Given the description of an element on the screen output the (x, y) to click on. 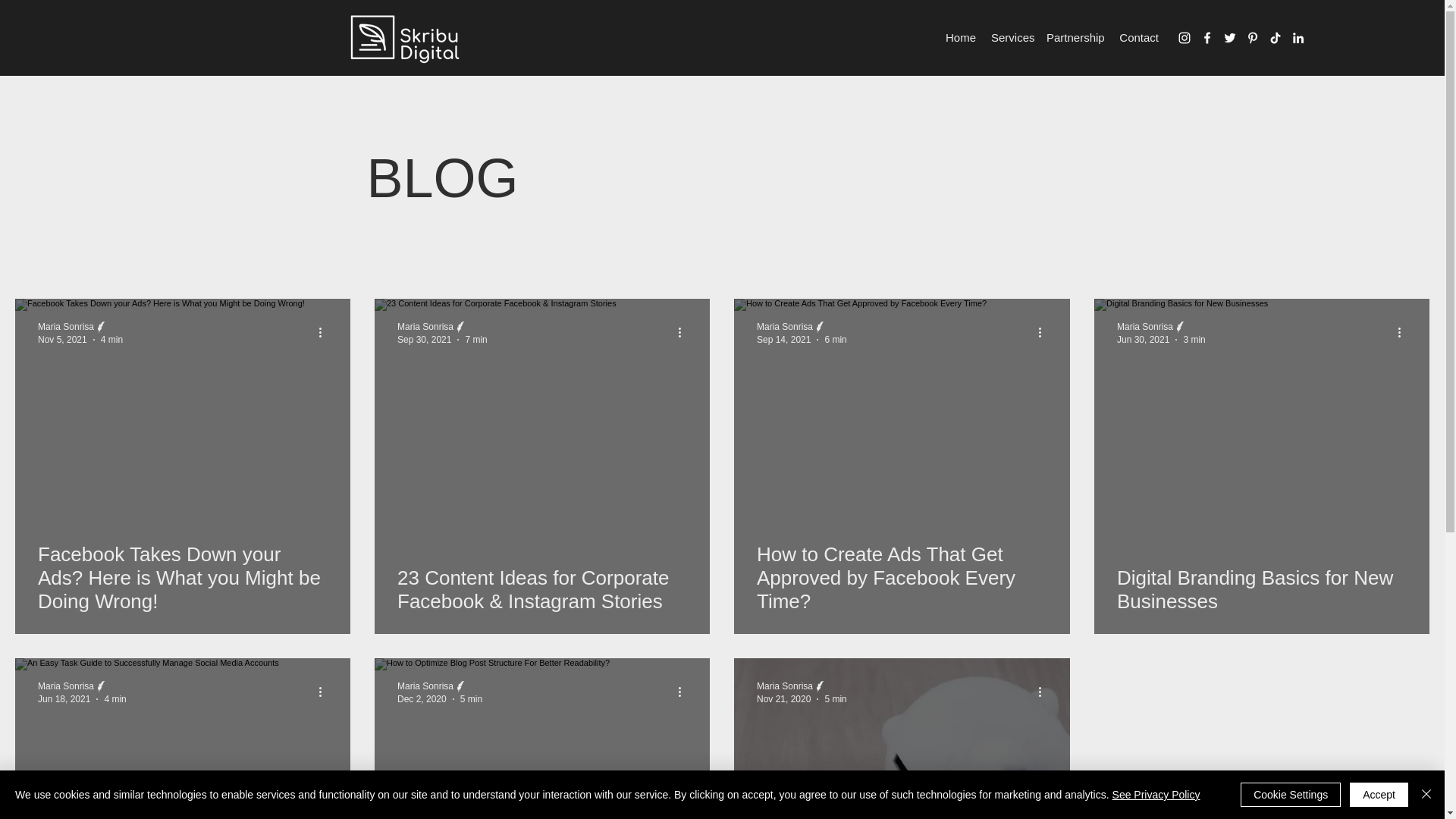
Maria Sonrisa (65, 685)
Jun 30, 2021 (1142, 338)
Maria Sonrisa (424, 326)
4 min (114, 697)
Maria Sonrisa (784, 685)
3 min (1193, 338)
Dec 2, 2020 (421, 697)
Partnership (1074, 37)
Jun 18, 2021 (63, 697)
Digital Branding Basics for New Businesses (1261, 589)
Services (1011, 37)
Home (960, 37)
Sep 14, 2021 (783, 338)
Contact (1138, 37)
